Given the description of an element on the screen output the (x, y) to click on. 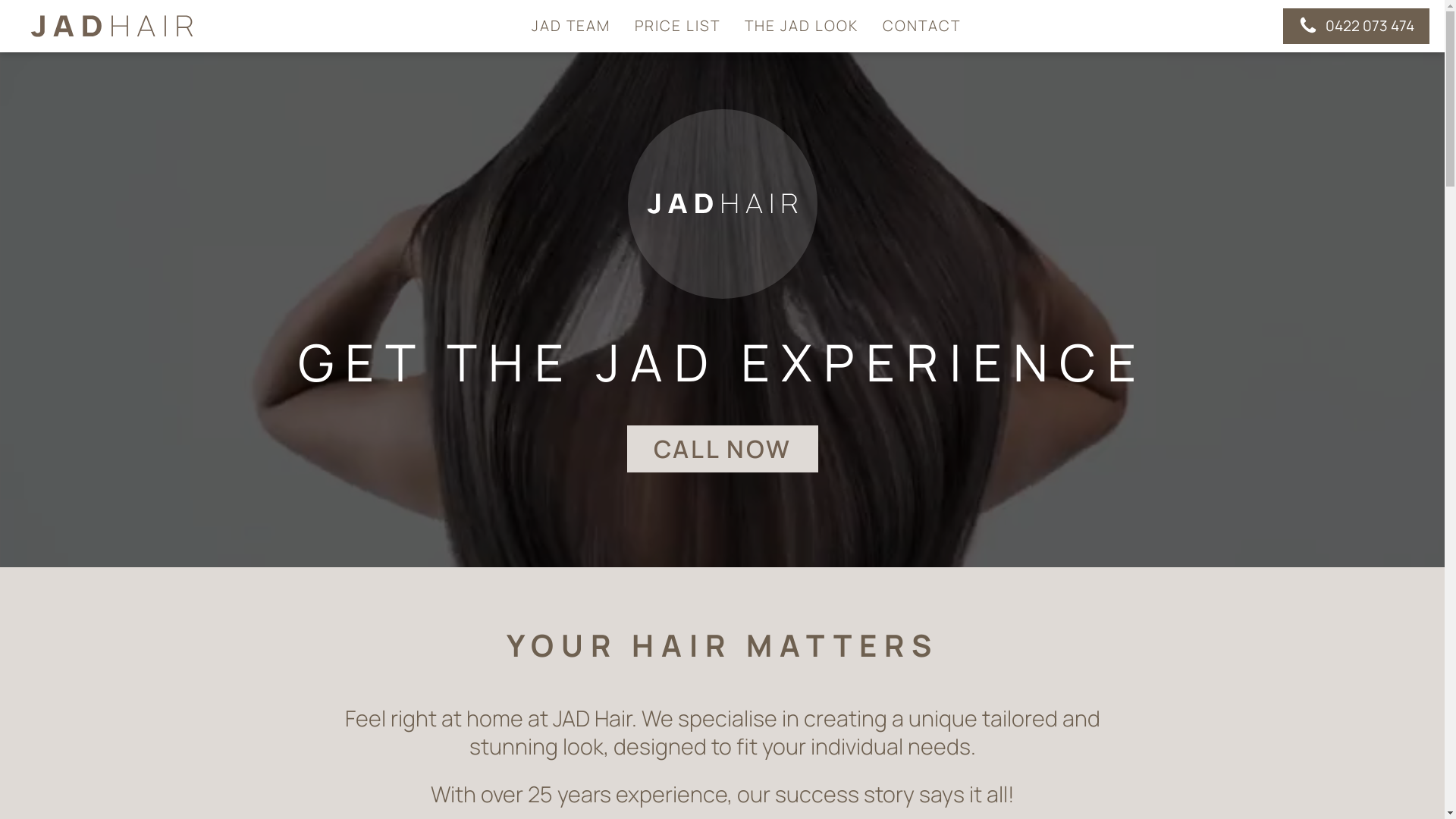
0422 073 474 Element type: text (1356, 25)
CALL NOW Element type: text (721, 448)
JAD TEAM Element type: text (569, 25)
CONTACT Element type: text (921, 25)
PRICE LIST Element type: text (676, 25)
THE JAD LOOK Element type: text (801, 25)
